Given the description of an element on the screen output the (x, y) to click on. 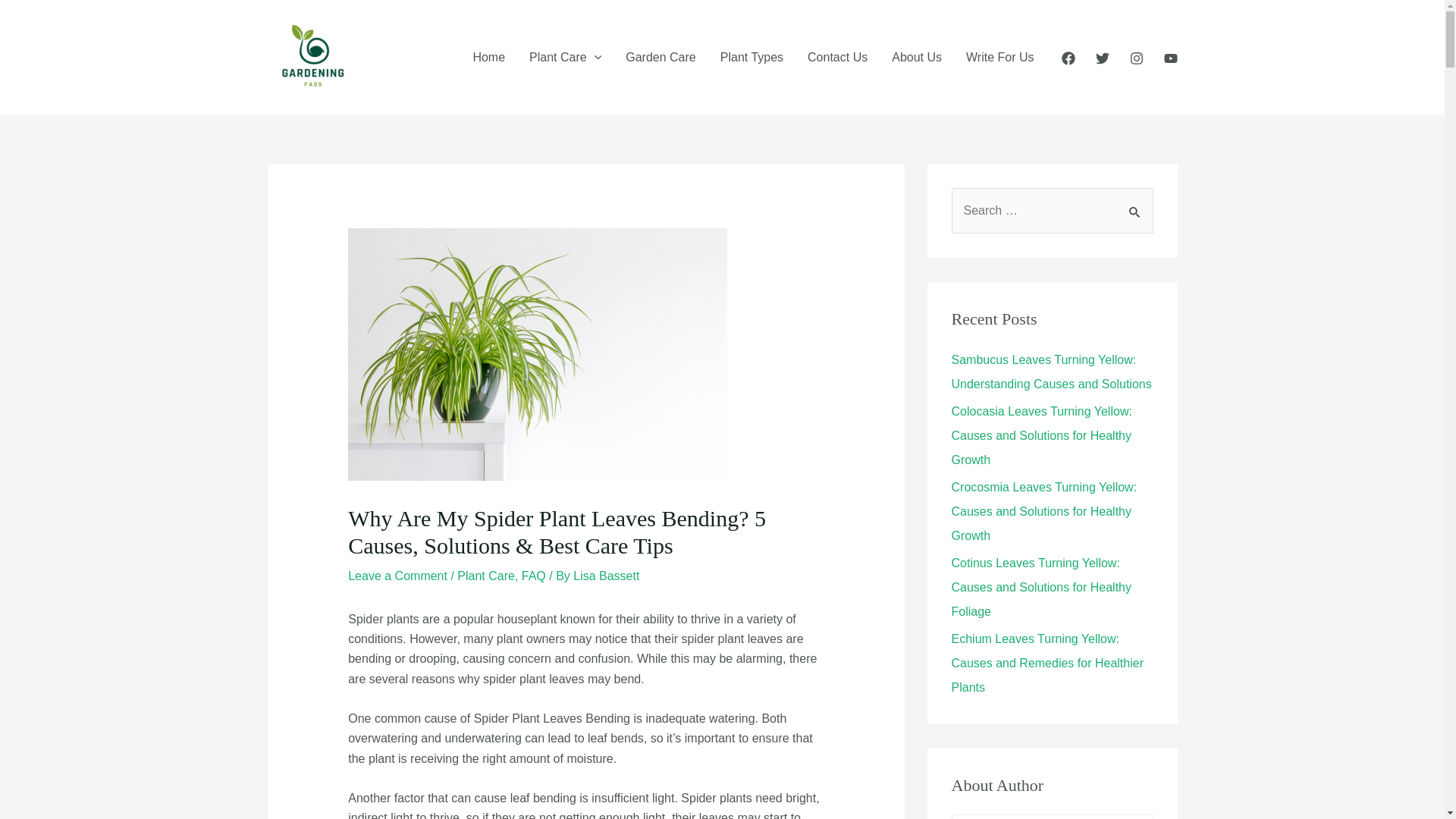
FAQ (533, 575)
Search (1136, 204)
Lisa Bassett (606, 575)
View all posts by Lisa Bassett (606, 575)
Search (1136, 204)
Garden Care (659, 57)
Leave a Comment (396, 575)
Write For Us (999, 57)
About Us (916, 57)
Plant Care (564, 57)
